Given the description of an element on the screen output the (x, y) to click on. 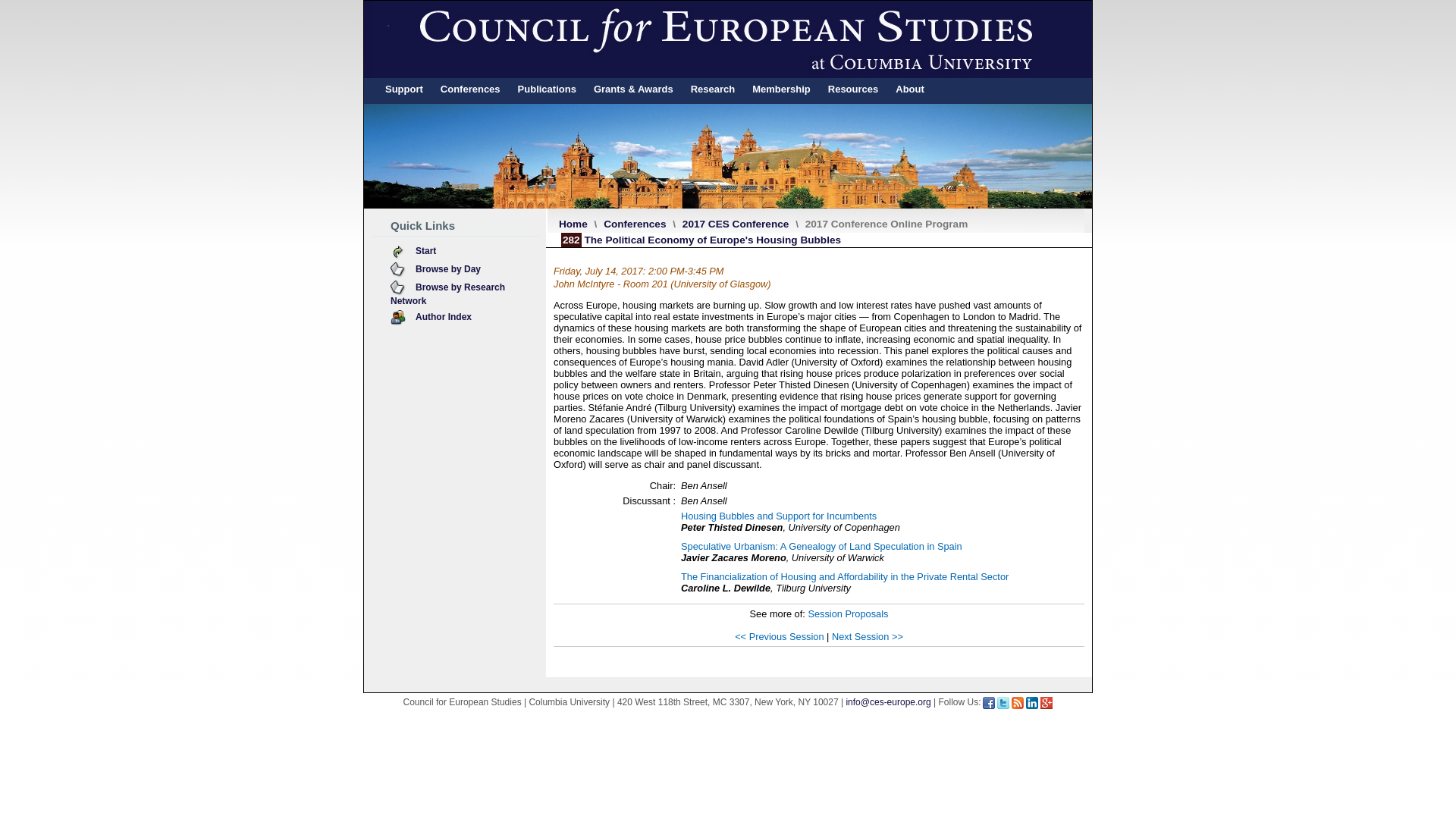
Conferences (470, 88)
Support (403, 88)
. (728, 38)
Research (712, 88)
Publications (547, 88)
